Given the description of an element on the screen output the (x, y) to click on. 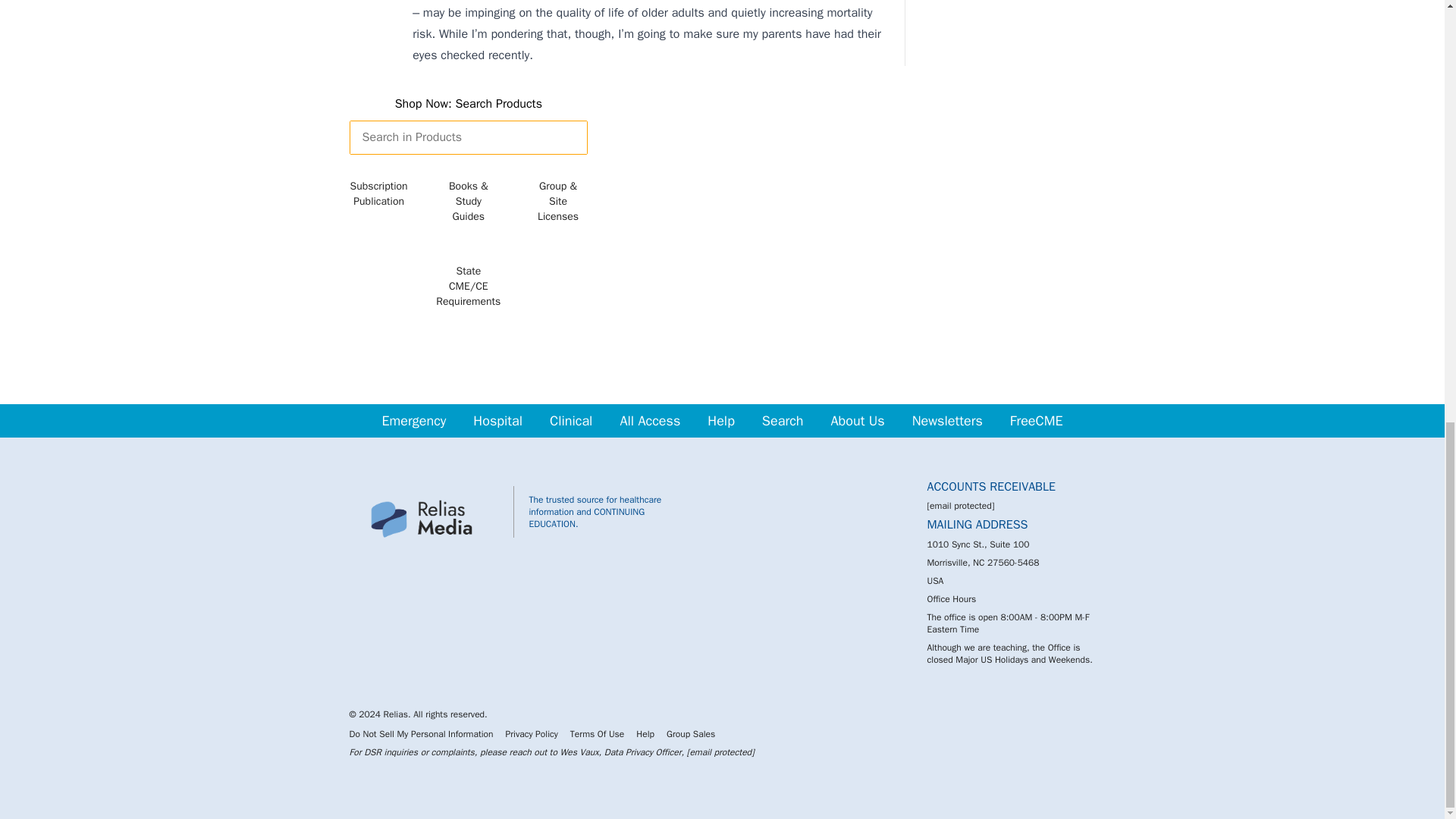
Emergency (413, 420)
Search (782, 420)
About Us (856, 420)
All Access (649, 420)
FreeCME (1036, 420)
Hospital (497, 420)
Help (721, 420)
Newsletters (947, 420)
Clinical (570, 420)
Subscription Publication (378, 196)
